Given the description of an element on the screen output the (x, y) to click on. 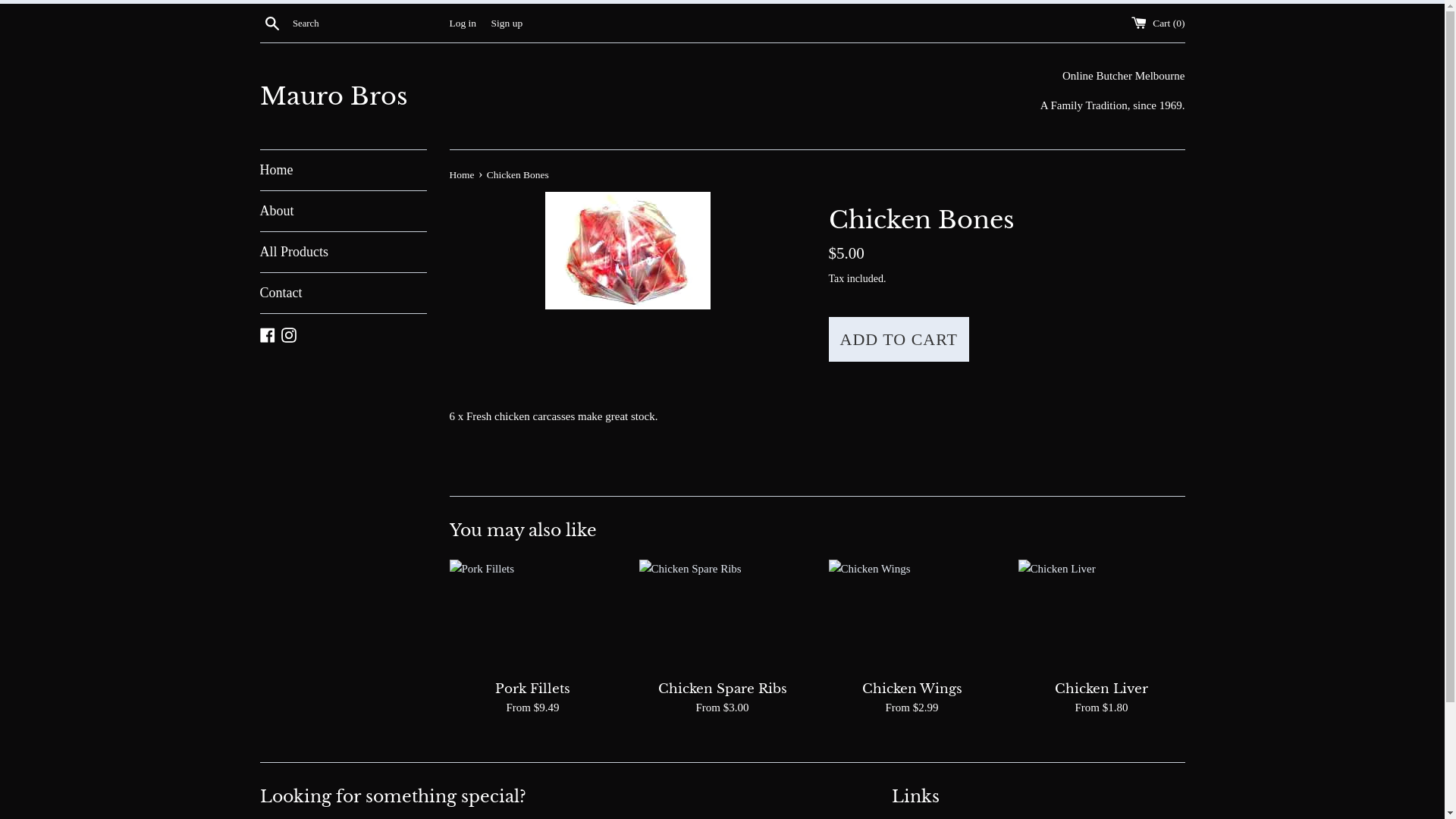
About Element type: text (342, 211)
Pork Fillets Element type: hover (531, 615)
Pork Fillets Element type: text (532, 688)
Log in Element type: text (462, 22)
Chicken Wings Element type: text (911, 688)
Sign up Element type: text (507, 22)
Chicken Spare Ribs Element type: hover (721, 615)
Chicken Liver Element type: text (1101, 688)
Cart (0) Element type: text (1158, 22)
All Products Element type: text (342, 252)
Chicken Wings Element type: hover (911, 615)
Facebook Element type: text (266, 334)
Mauro Bros Element type: text (490, 96)
Contact Element type: text (342, 293)
Instagram Element type: text (288, 334)
Home Element type: text (342, 170)
Home Element type: text (462, 174)
Search Element type: text (271, 21)
Chicken Spare Ribs Element type: text (722, 688)
ADD TO CART Element type: text (898, 339)
Chicken Liver Element type: hover (1100, 615)
